Given the description of an element on the screen output the (x, y) to click on. 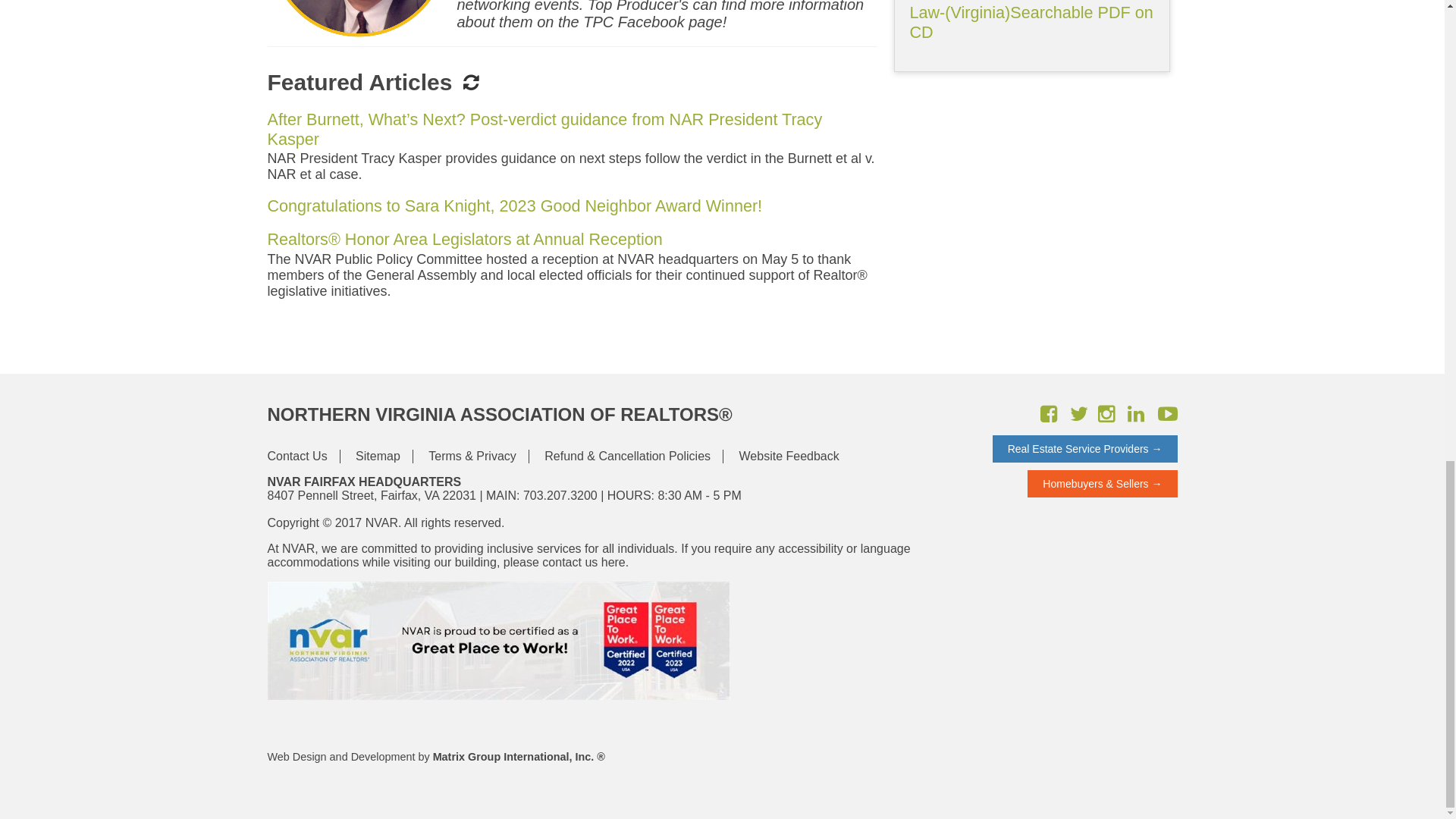
steve d headshot (357, 19)
